Given the description of an element on the screen output the (x, y) to click on. 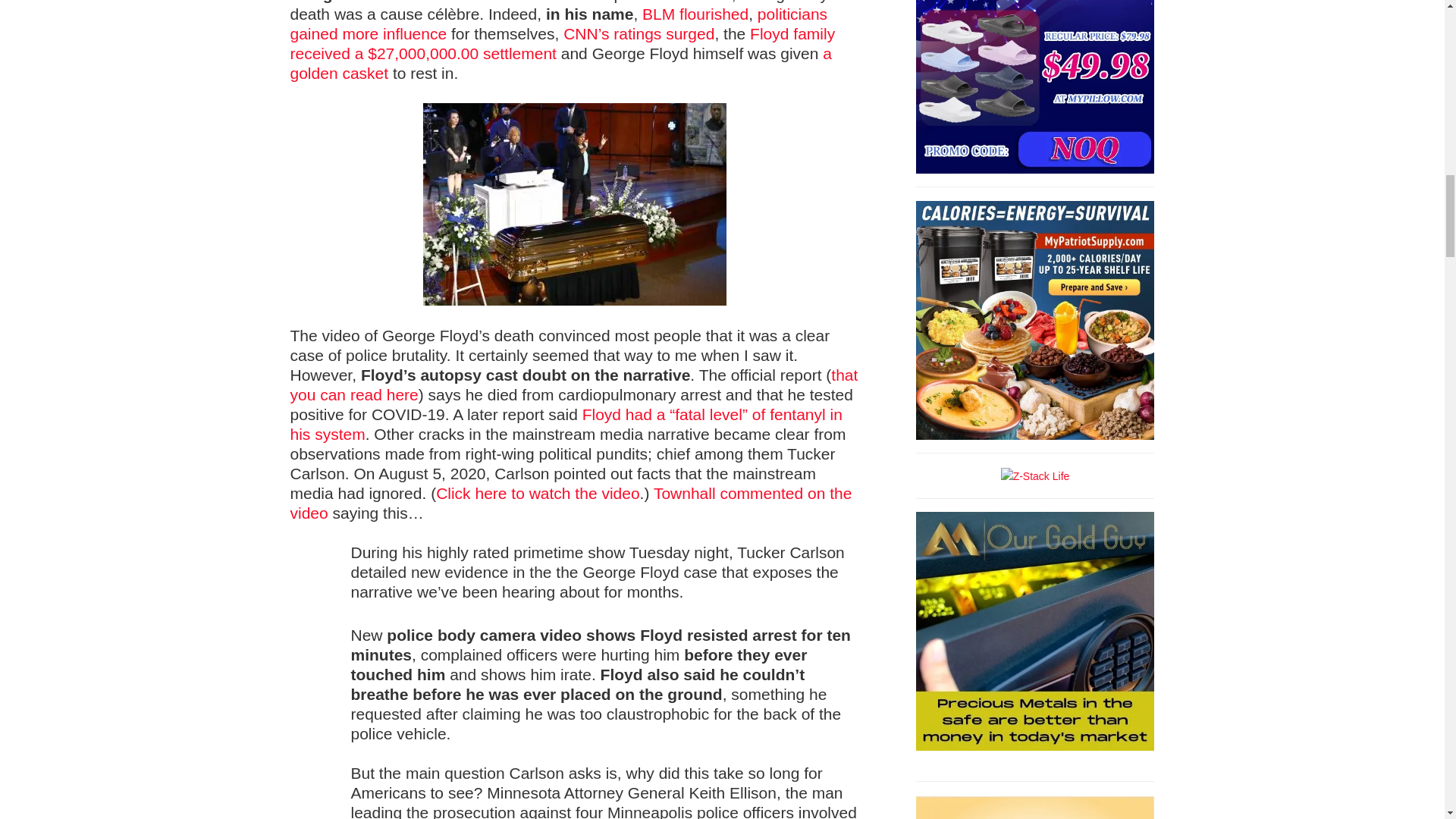
BLM flourished (695, 13)
